Given the description of an element on the screen output the (x, y) to click on. 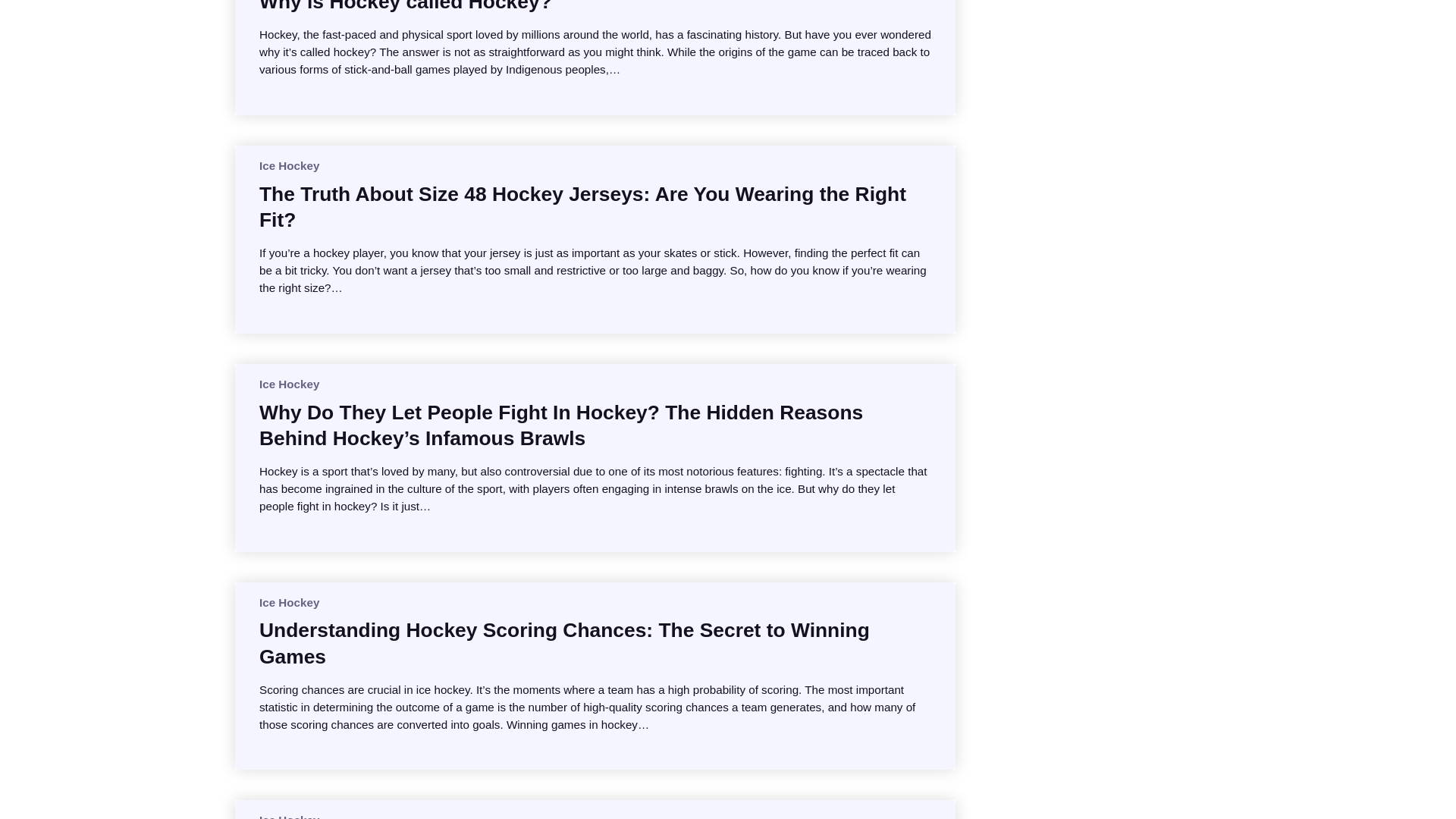
Ice Hockey (288, 816)
Ice Hockey (288, 602)
Ice Hockey (288, 383)
Why is Hockey called Hockey? (405, 7)
Ice Hockey (288, 164)
